Given the description of an element on the screen output the (x, y) to click on. 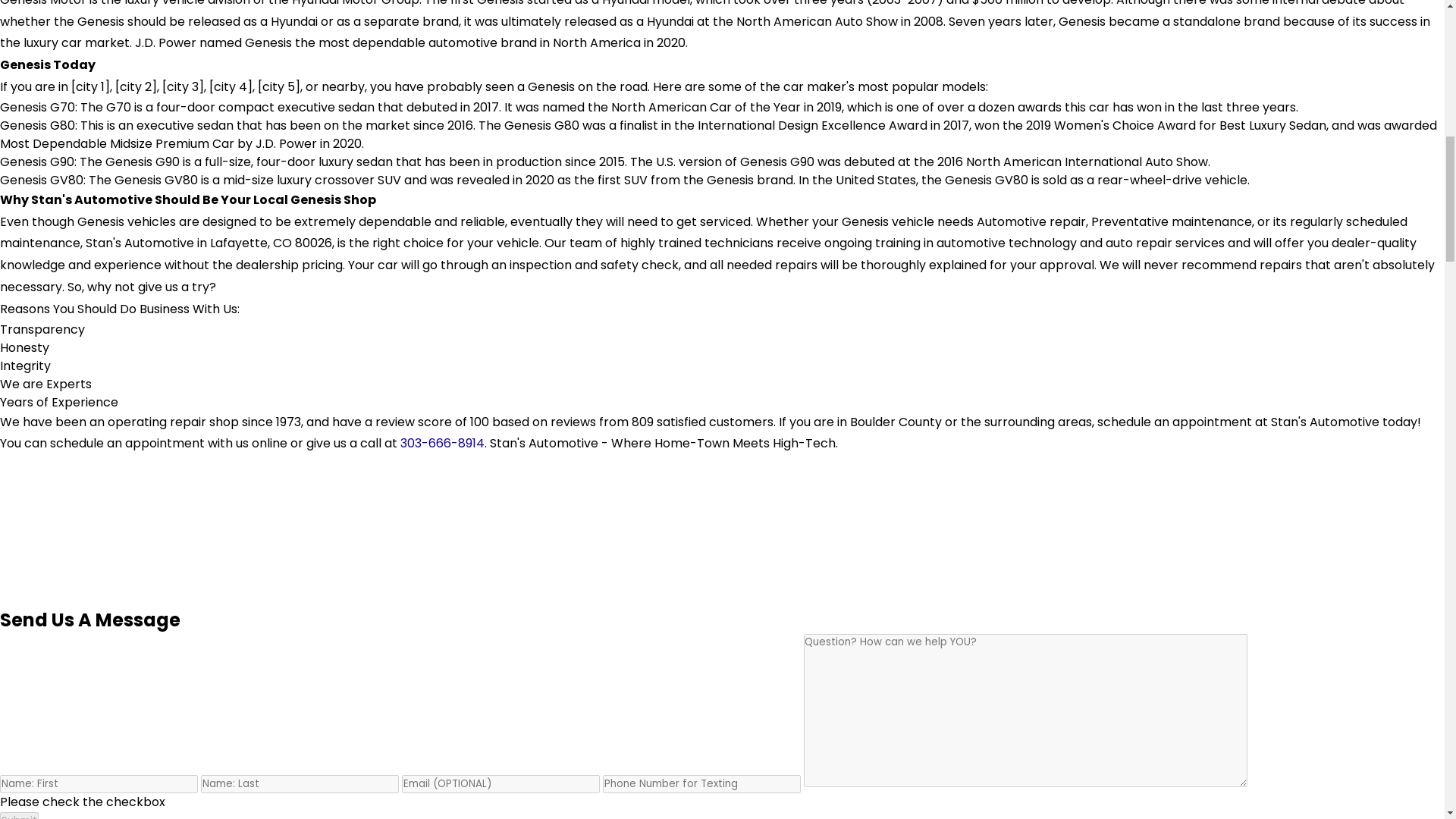
Submit (19, 815)
